Given the description of an element on the screen output the (x, y) to click on. 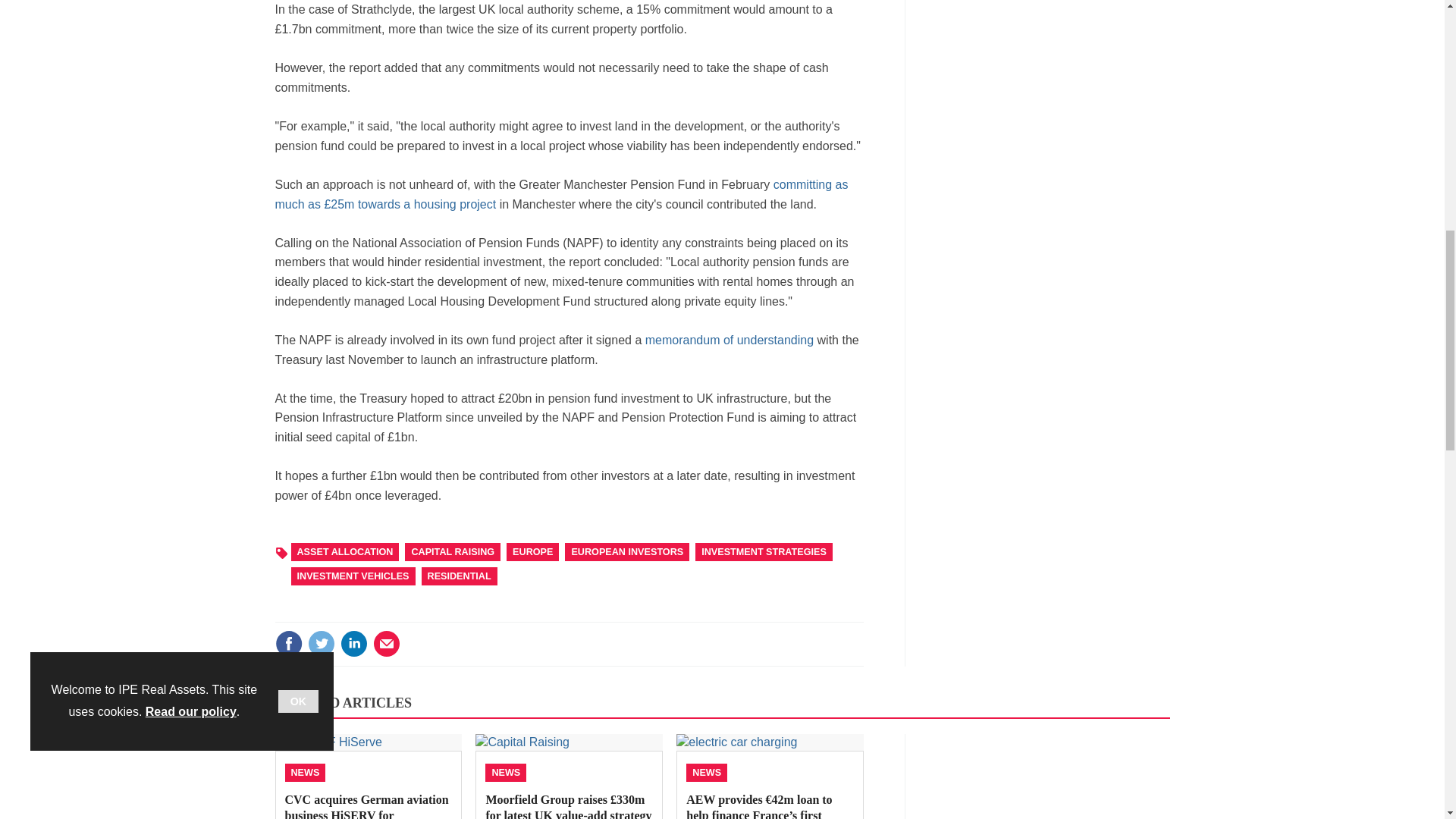
Share this on Linked in (352, 643)
Email this article (386, 643)
Share this on Twitter (320, 643)
Share this on Facebook (288, 643)
